Given the description of an element on the screen output the (x, y) to click on. 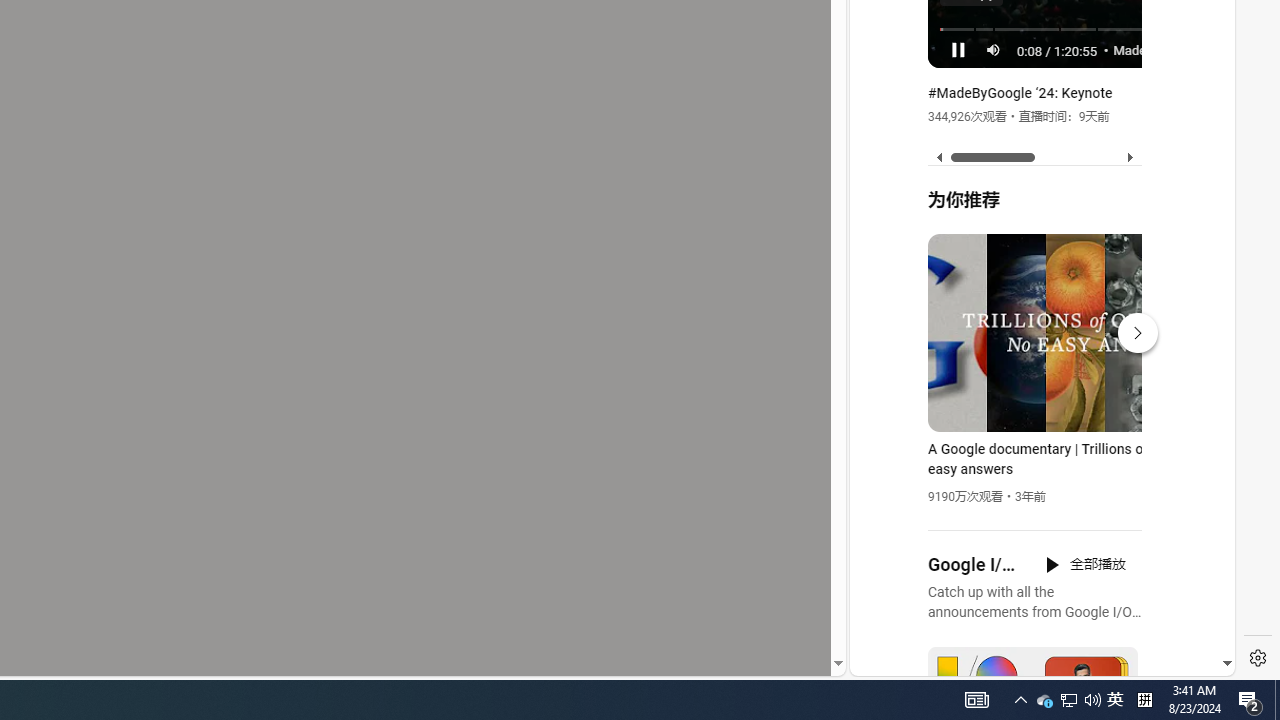
Class: dict_pnIcon rms_img (1028, 660)
YouTube - YouTube (1034, 266)
Google I/O 2024 (974, 565)
MadeByGoogle '24: Intro (1166, 49)
